Given the description of an element on the screen output the (x, y) to click on. 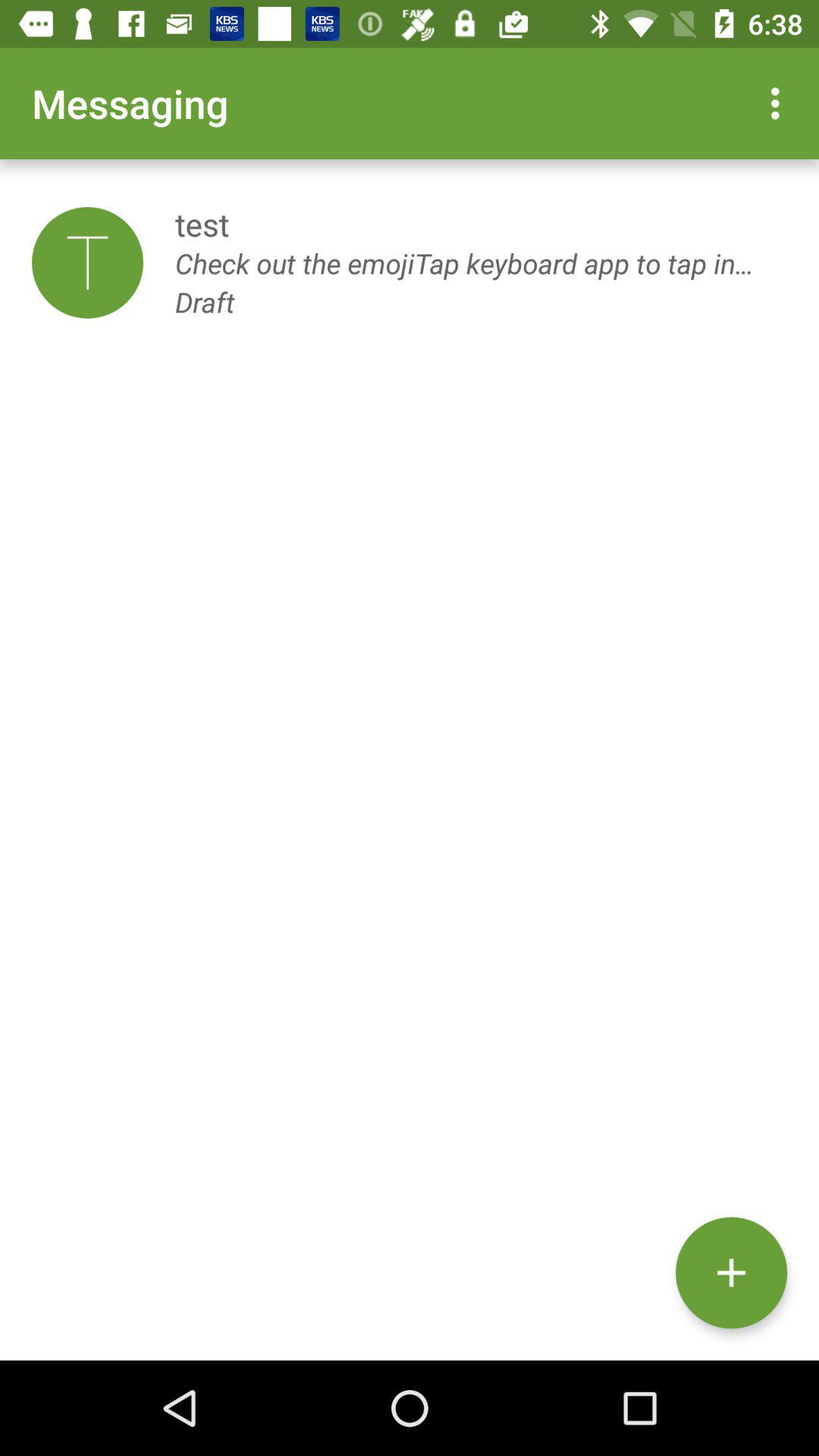
launch icon above the test icon (779, 103)
